Given the description of an element on the screen output the (x, y) to click on. 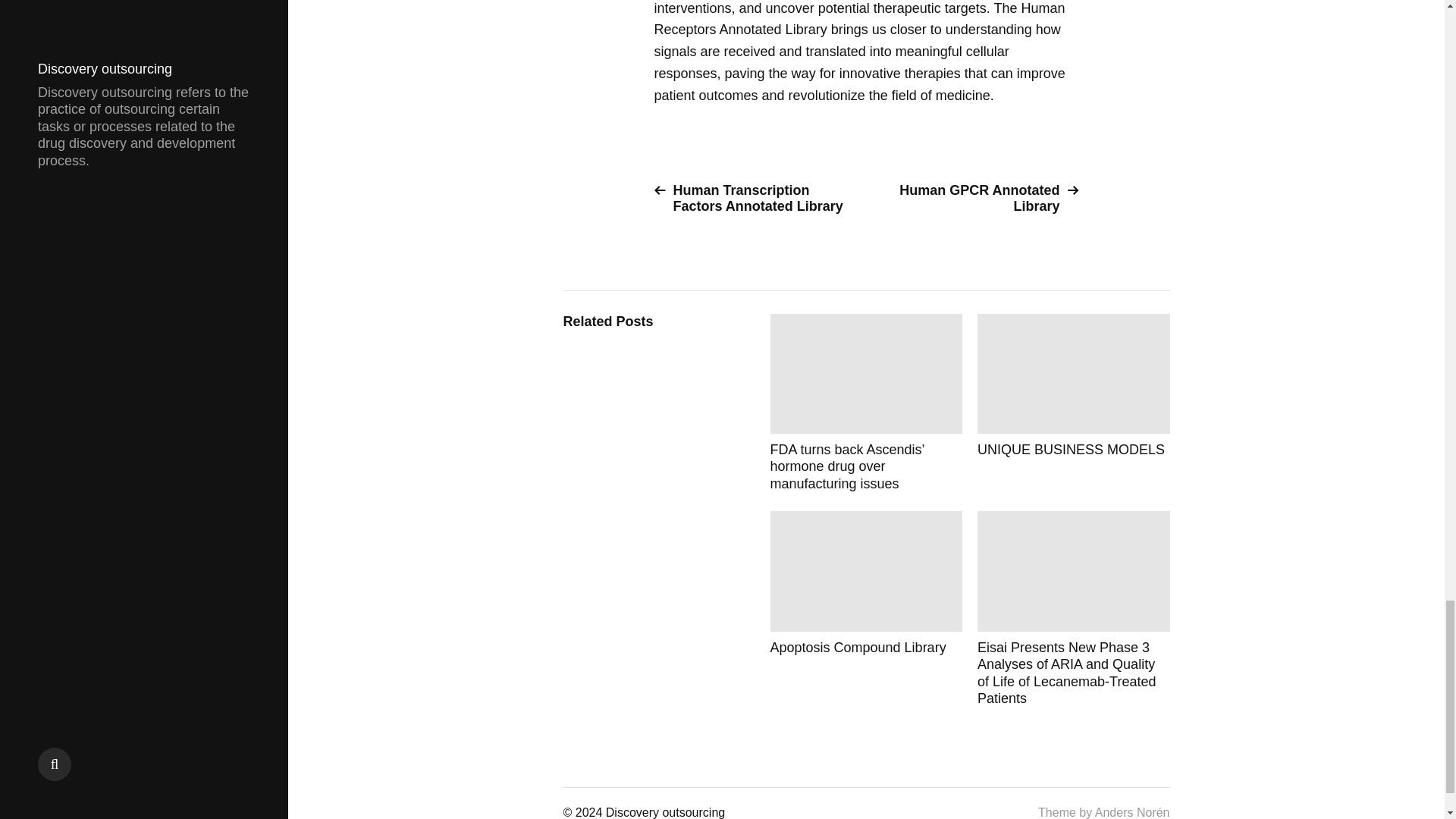
Human GPCR Annotated Library (977, 198)
Human Transcription Factors Annotated Library (753, 198)
UNIQUE BUSINESS MODELS (1073, 402)
Apoptosis Compound Library (866, 608)
